Given the description of an element on the screen output the (x, y) to click on. 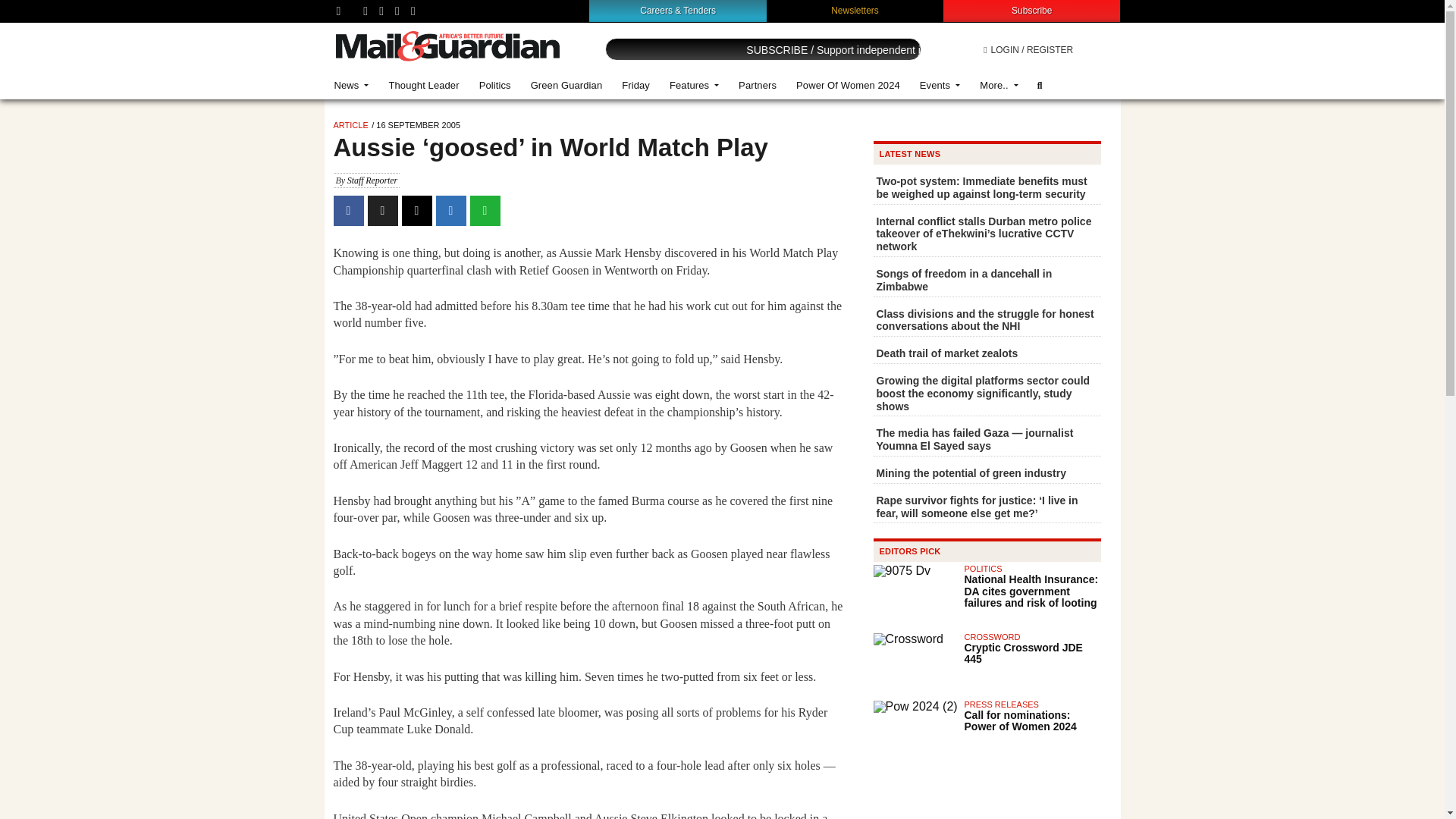
News (351, 85)
Subscribe (1031, 9)
Features (694, 85)
Friday (635, 85)
Green Guardian (566, 85)
News (351, 85)
Thought Leader (423, 85)
Politics (494, 85)
Newsletters (855, 9)
